Given the description of an element on the screen output the (x, y) to click on. 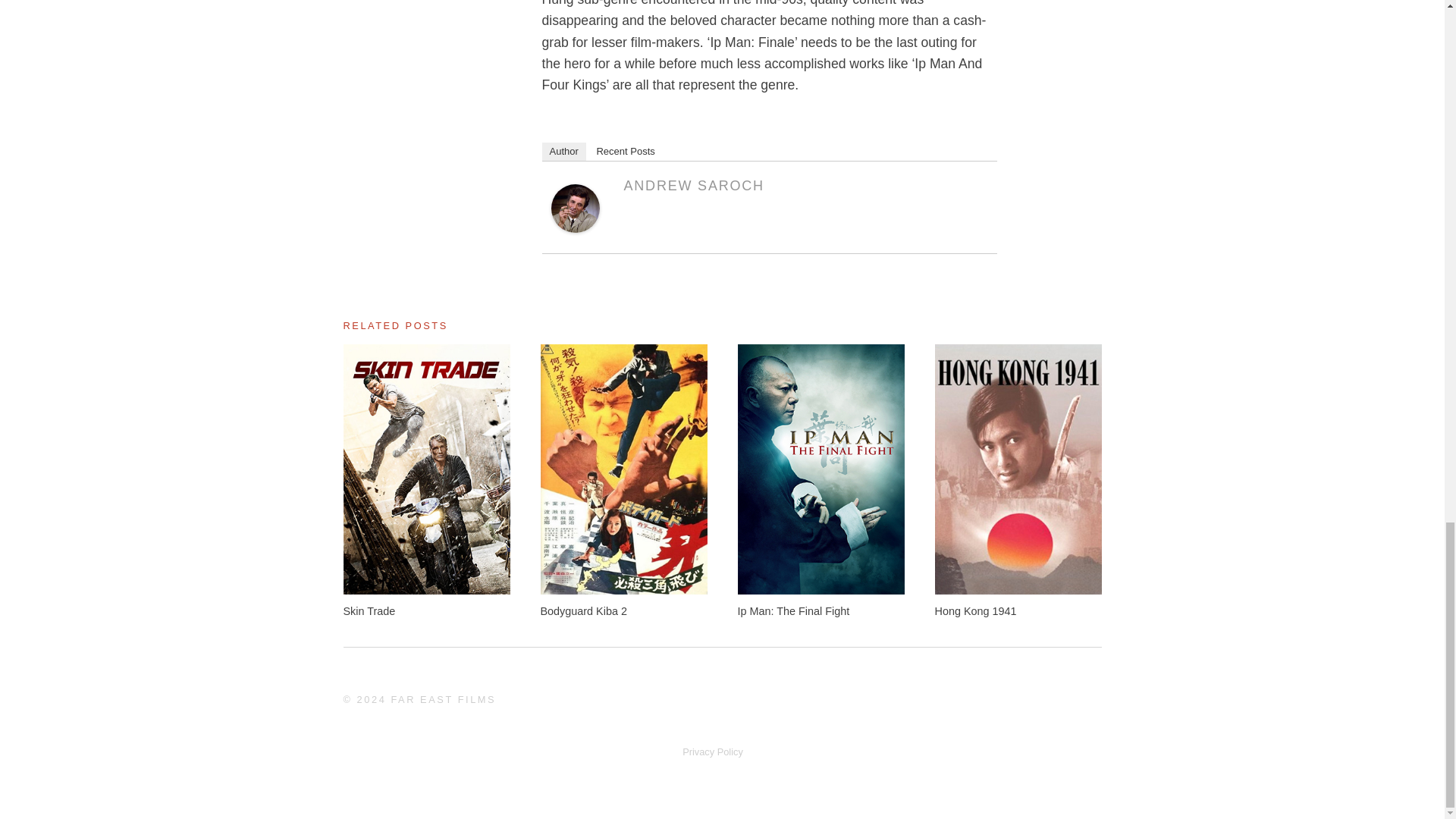
Privacy policy (712, 751)
Andrew Saroch (574, 228)
